Given the description of an element on the screen output the (x, y) to click on. 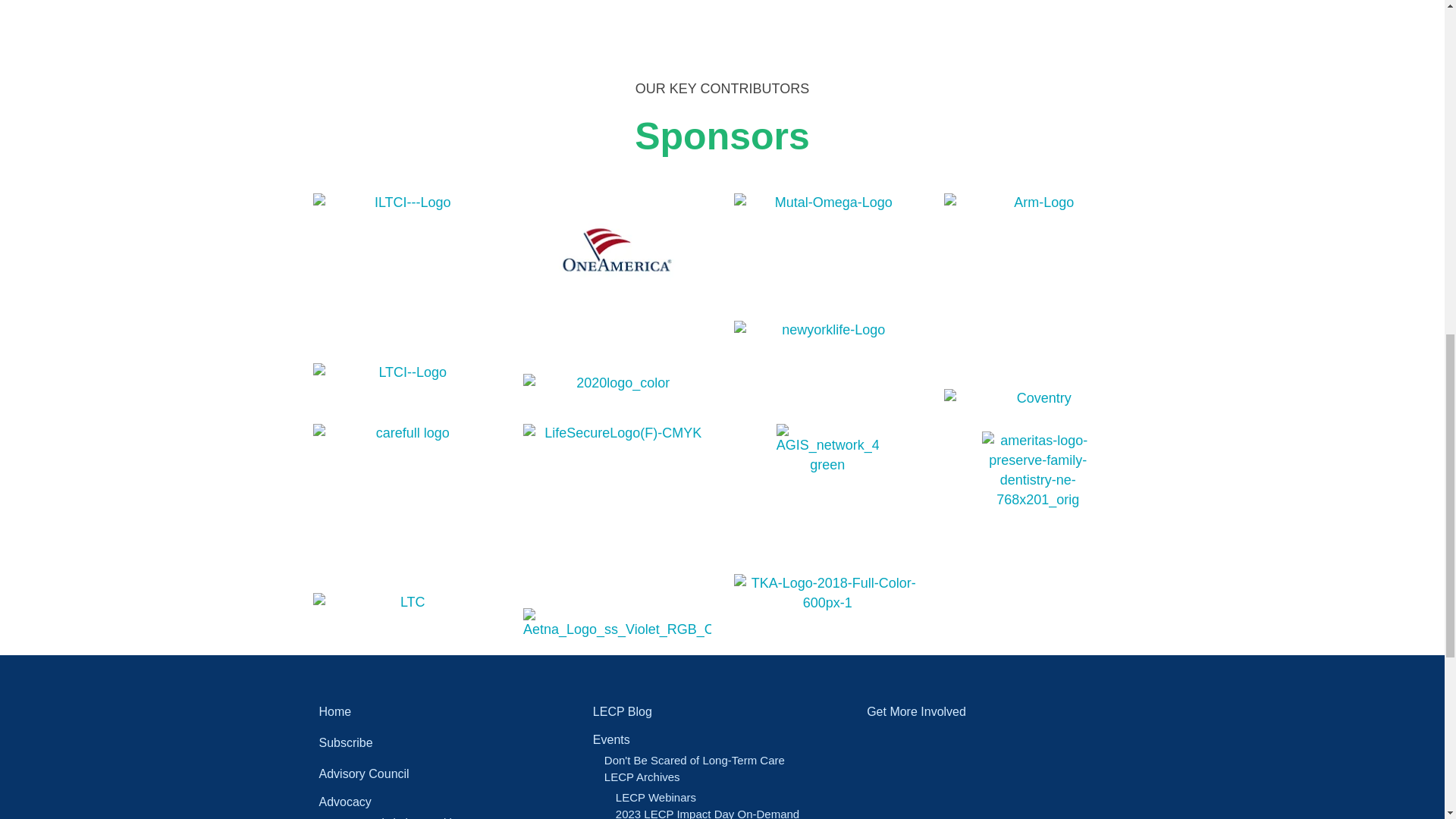
Advocacy (447, 801)
Subscribe (447, 742)
Home (447, 711)
Advisory Council (447, 773)
